Given the description of an element on the screen output the (x, y) to click on. 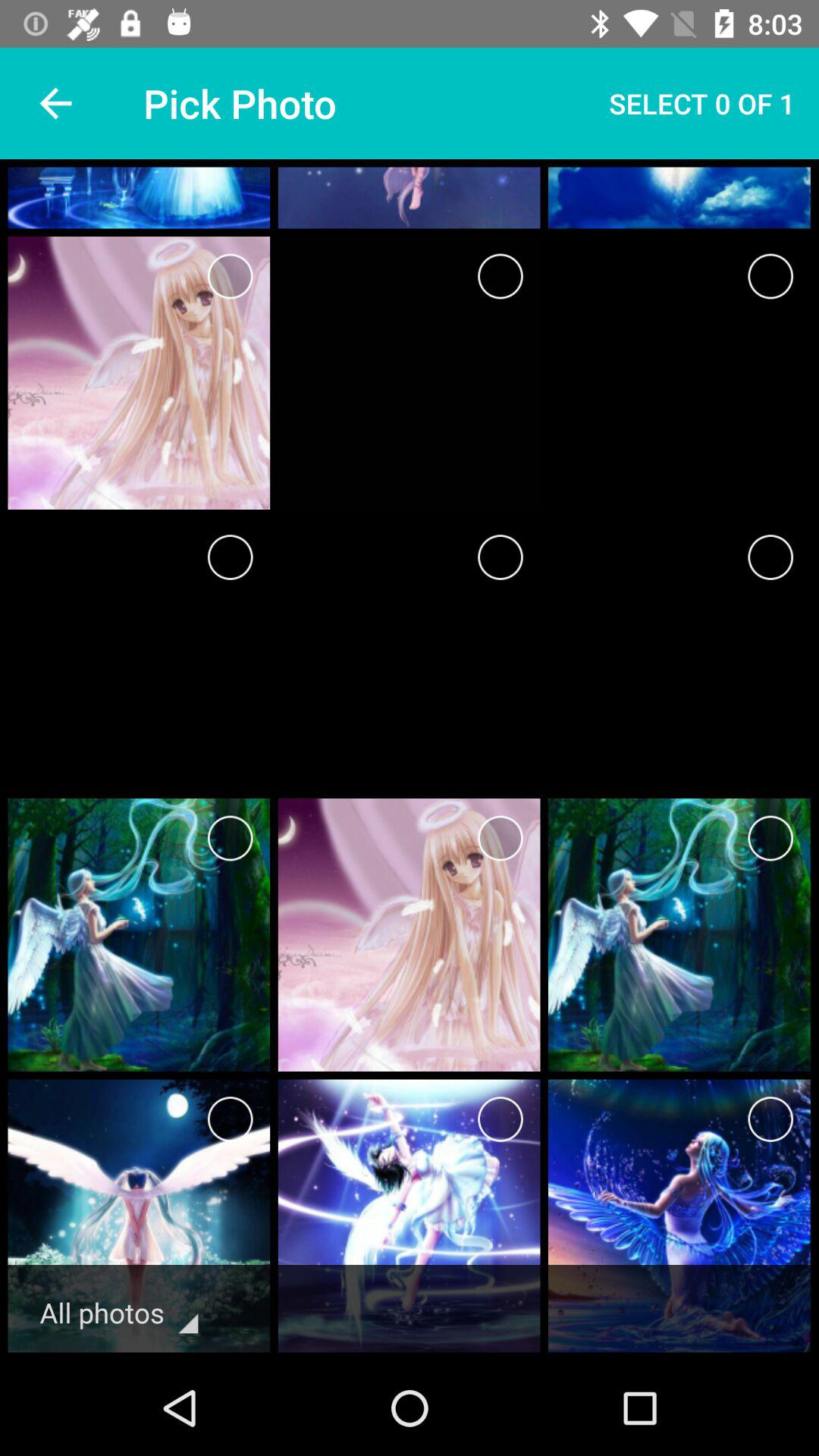
select the photo (500, 1119)
